Given the description of an element on the screen output the (x, y) to click on. 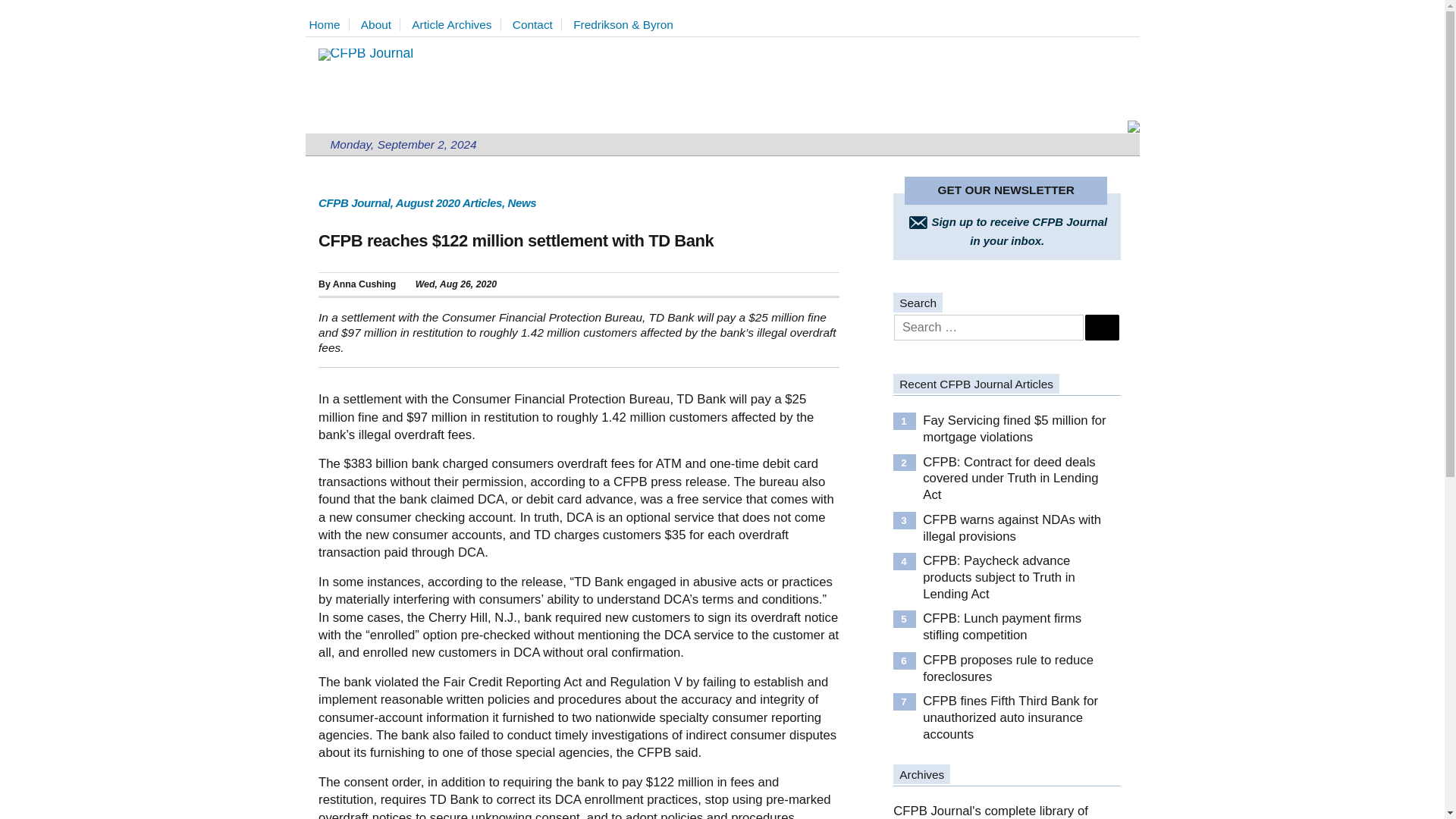
Receive CFPB Journal in your inbox (1006, 230)
, News (518, 202)
Search (1101, 327)
Article Archives (456, 24)
Contact (1006, 230)
CFPB: Lunch payment firms stifling competition (537, 24)
